Given the description of an element on the screen output the (x, y) to click on. 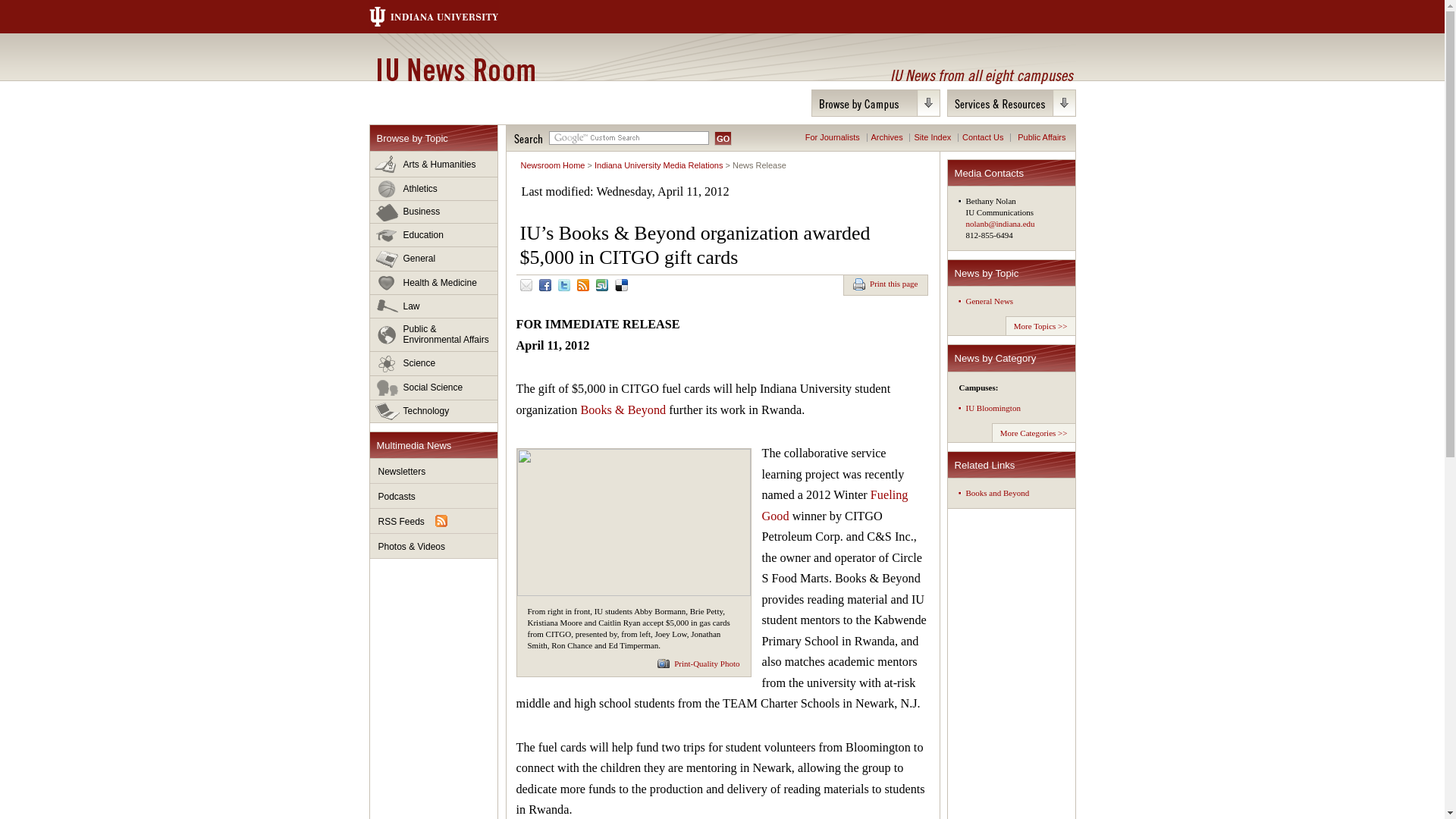
Education (433, 235)
Social Science (433, 387)
Business (433, 211)
Technology (433, 411)
IU News Room (455, 69)
Education (433, 235)
Science (433, 363)
Newsletters (433, 471)
Podcasts (433, 496)
Athletics (433, 188)
General (433, 259)
General (433, 259)
IU News Room (455, 69)
Law (433, 306)
Athletics (433, 188)
